Given the description of an element on the screen output the (x, y) to click on. 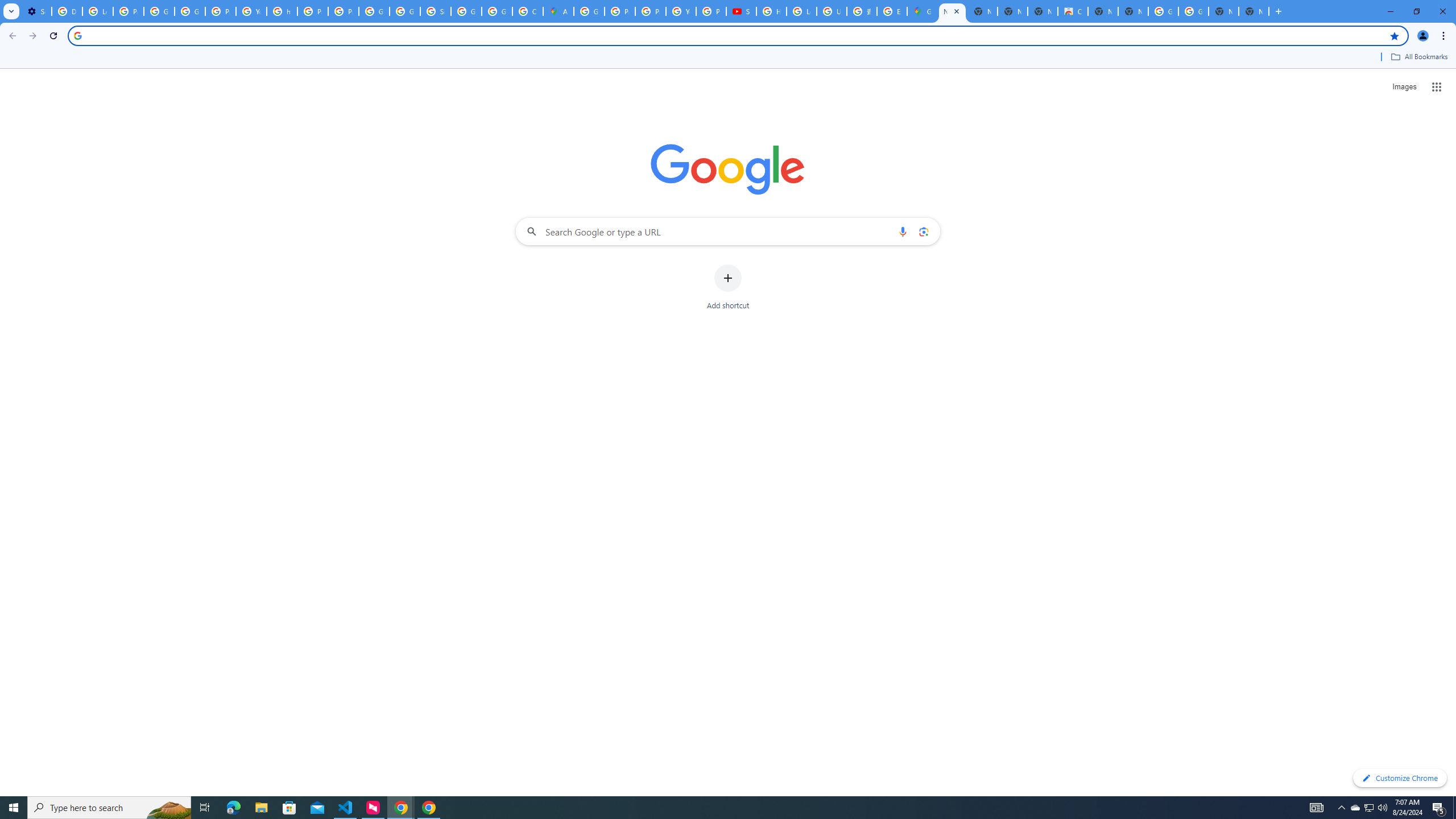
Add shortcut (727, 287)
Google Account Help (158, 11)
Sign in - Google Accounts (434, 11)
Create your Google Account (527, 11)
Google Images (1193, 11)
Settings - Performance (36, 11)
Bookmarks (728, 58)
Privacy Help Center - Policies Help (312, 11)
